Given the description of an element on the screen output the (x, y) to click on. 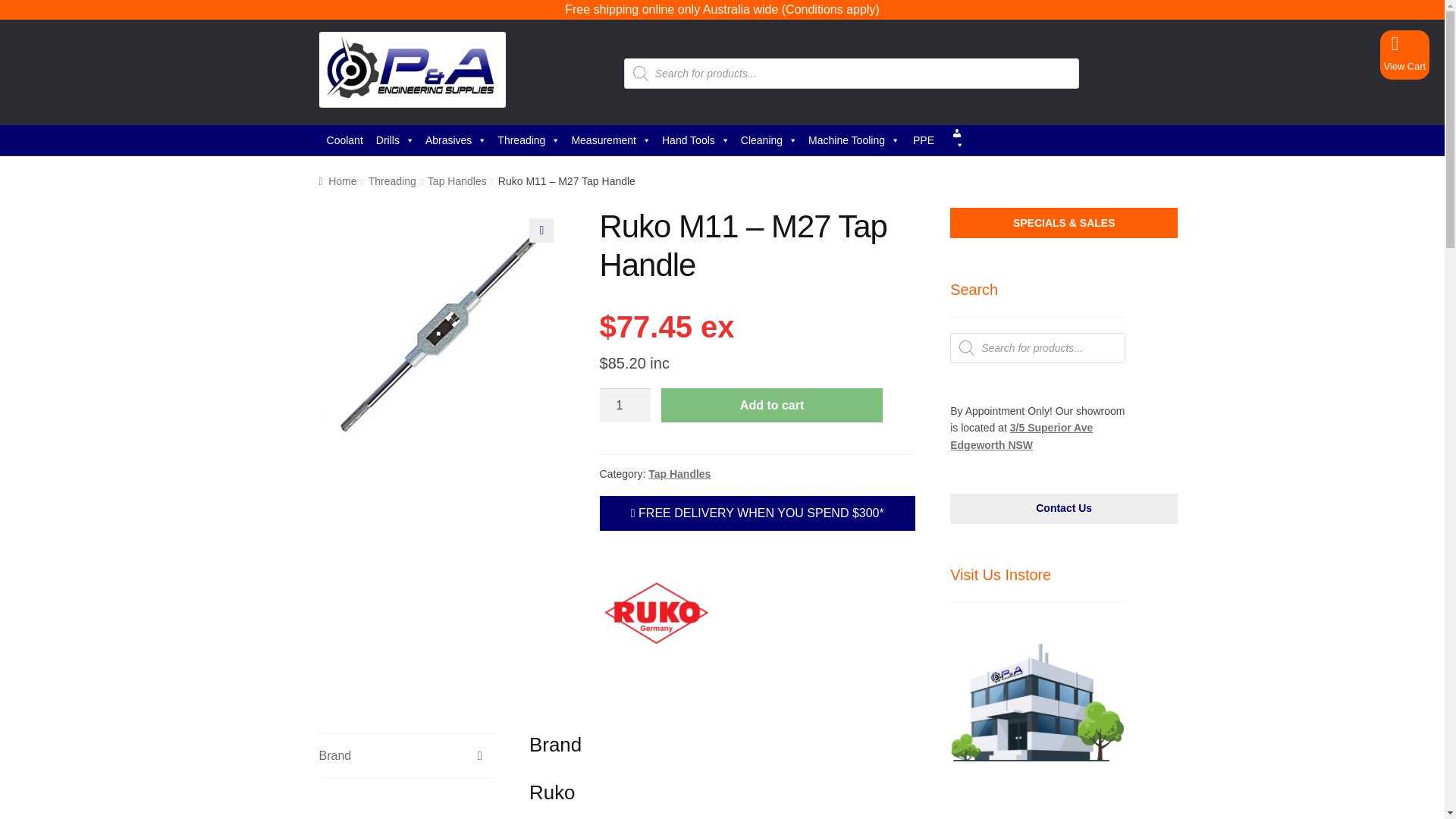
Threading (528, 140)
1 (624, 405)
Drills (395, 140)
Coolant (344, 140)
Abrasives (456, 140)
Ruko (656, 613)
Qty (624, 405)
ruko-tap-handle (441, 330)
